Given the description of an element on the screen output the (x, y) to click on. 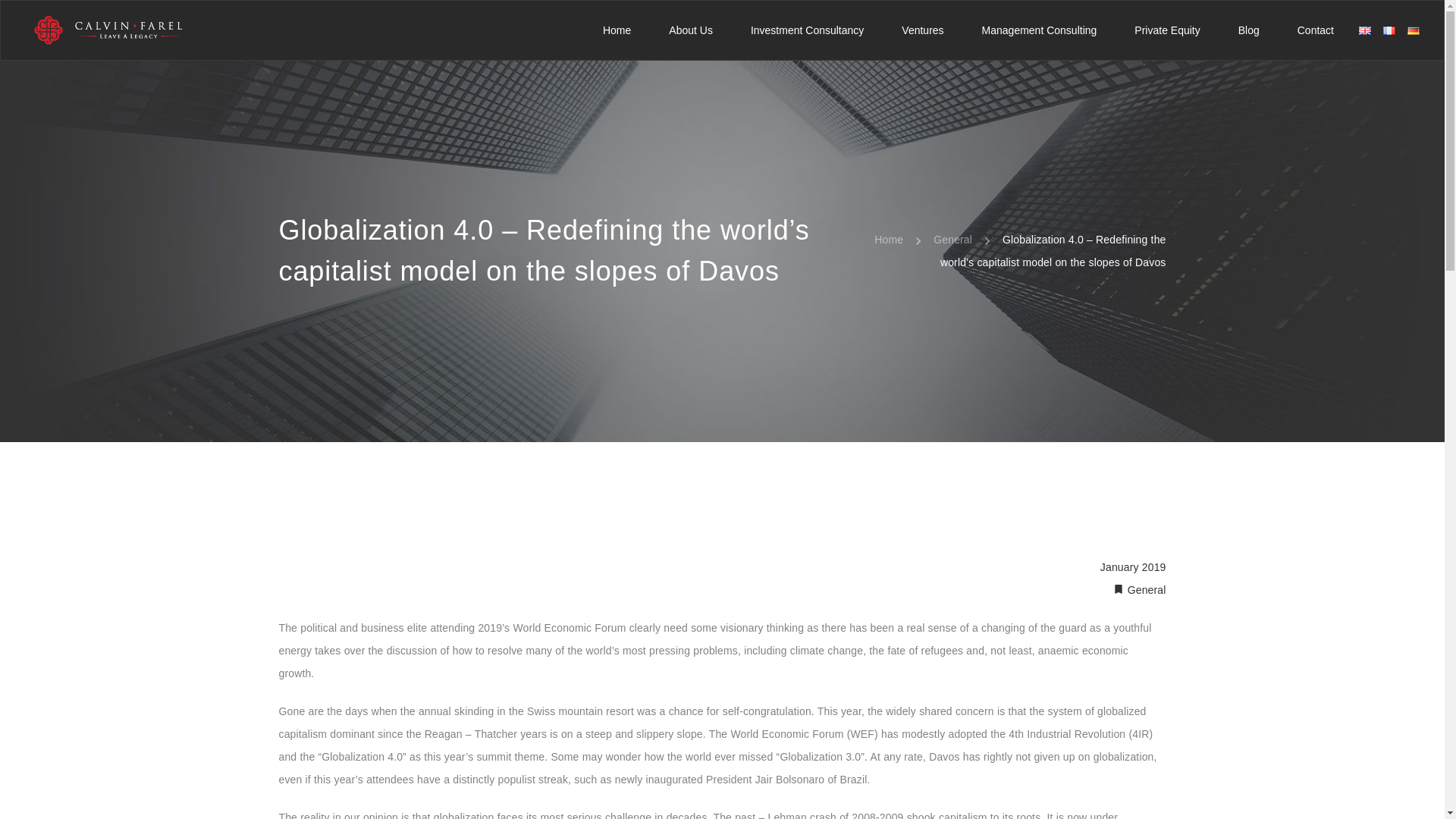
Home (616, 30)
Blog (1249, 30)
Investment Consultancy (807, 30)
About Us (690, 30)
Private Equity (1166, 30)
Ventures (922, 30)
Contact (1315, 30)
Management Consulting (1039, 30)
